Given the description of an element on the screen output the (x, y) to click on. 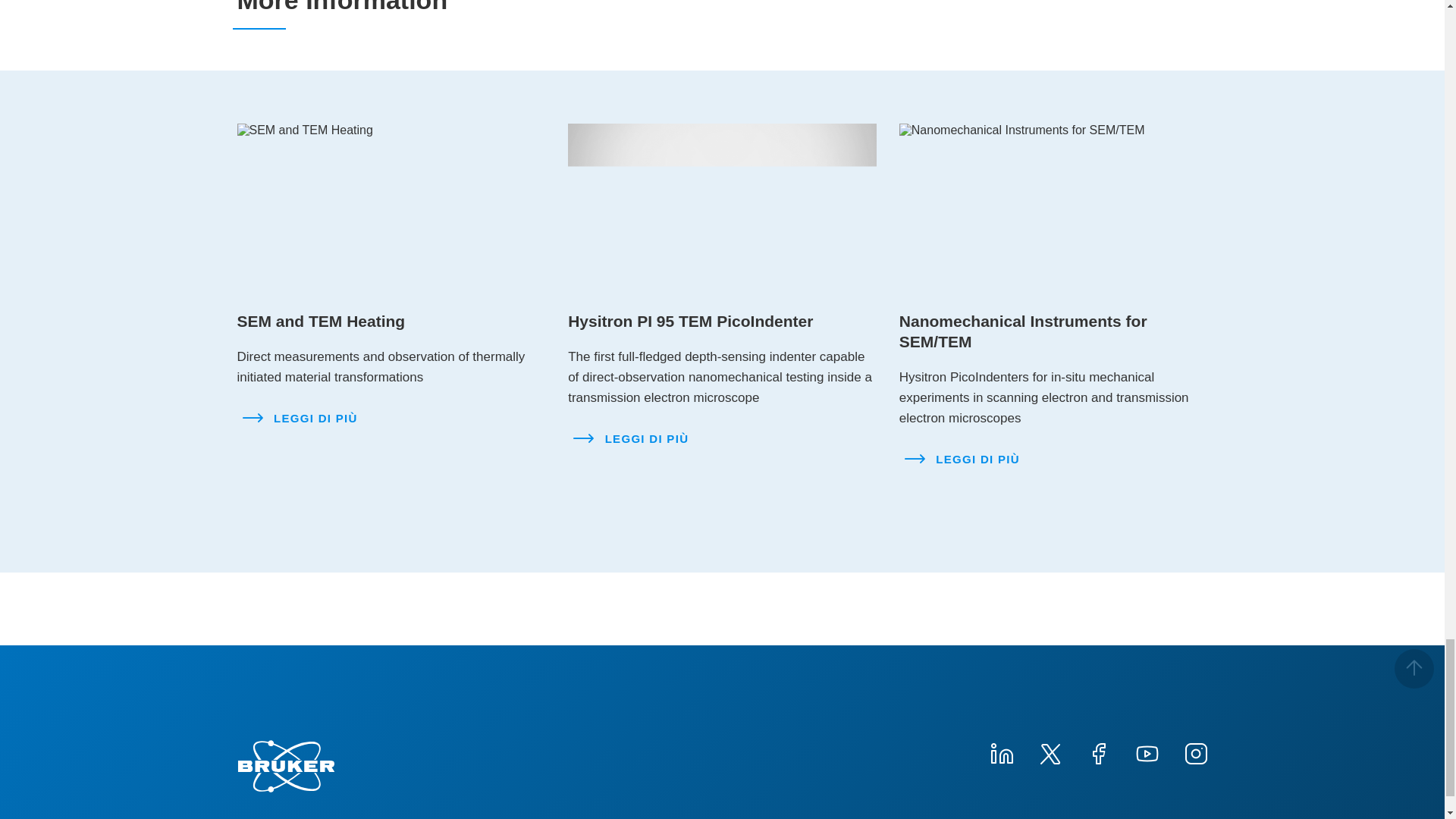
youtube (1146, 752)
Privacy Policy (1018, 818)
linkedin (1000, 752)
twitter (1048, 752)
Terms of Use (915, 818)
facebook (1097, 752)
instagram (1194, 752)
Imprint (833, 818)
